Given the description of an element on the screen output the (x, y) to click on. 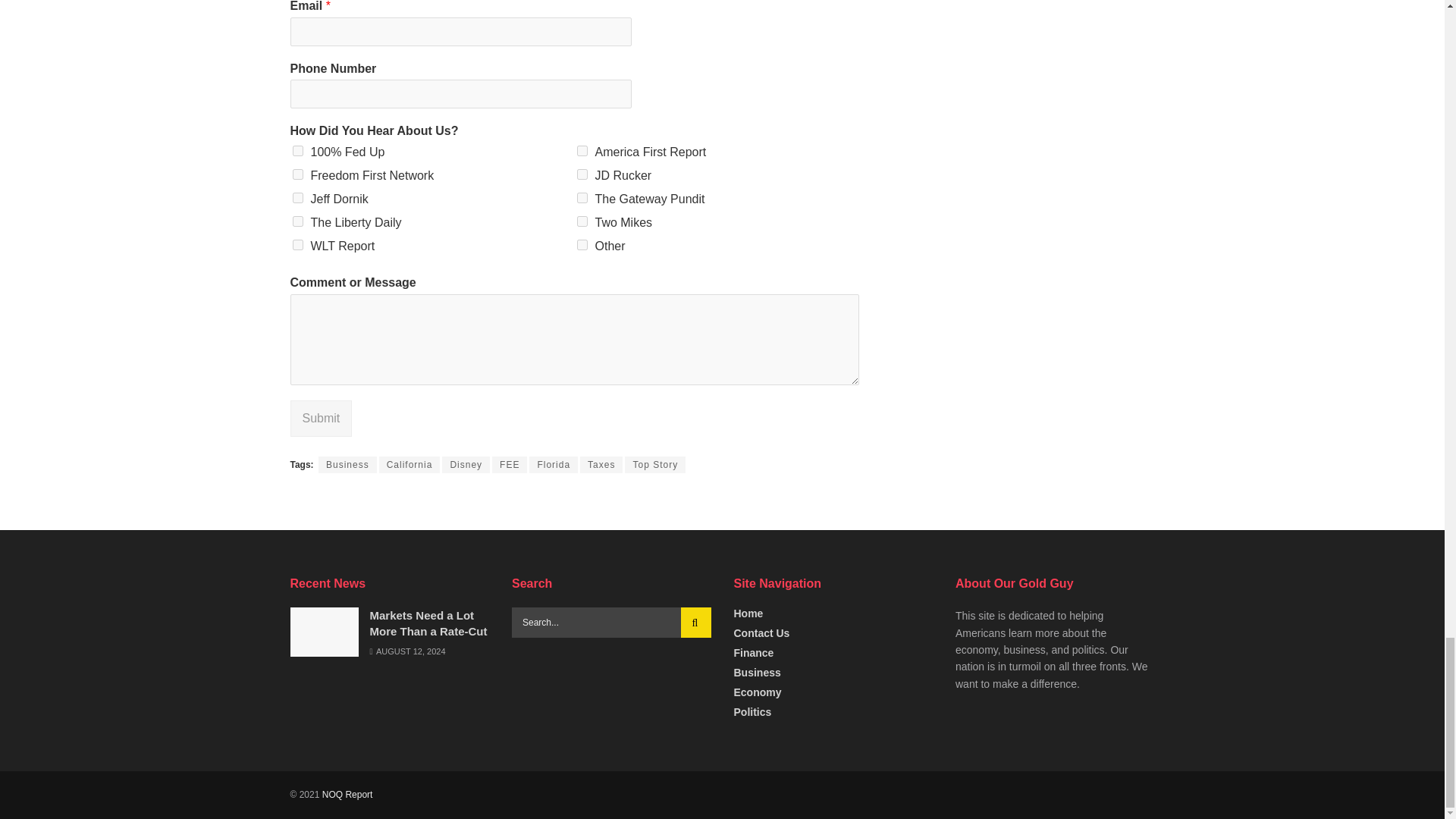
JD Rucker (581, 173)
NOQ Report (346, 794)
The Gateway Pundit (581, 197)
America First Report (581, 150)
WLT Report (297, 244)
The Liberty Daily (297, 221)
Other (581, 244)
Freedom First Network (297, 173)
Two Mikes (581, 221)
Jeff Dornik (297, 197)
